Given the description of an element on the screen output the (x, y) to click on. 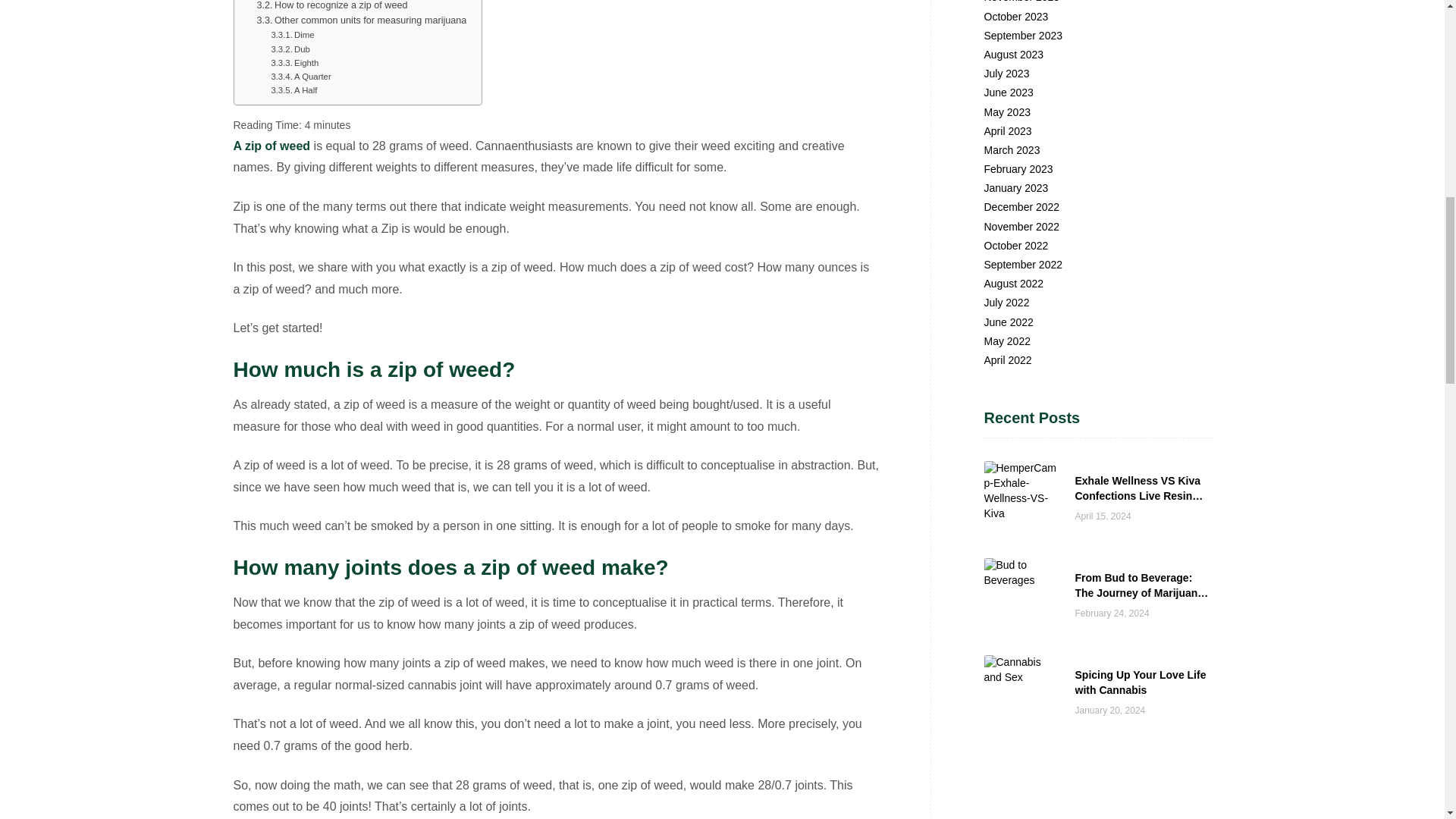
Other common units for measuring marijuana (360, 20)
Dub (290, 49)
Eighth (294, 62)
A Quarter (300, 76)
